Given the description of an element on the screen output the (x, y) to click on. 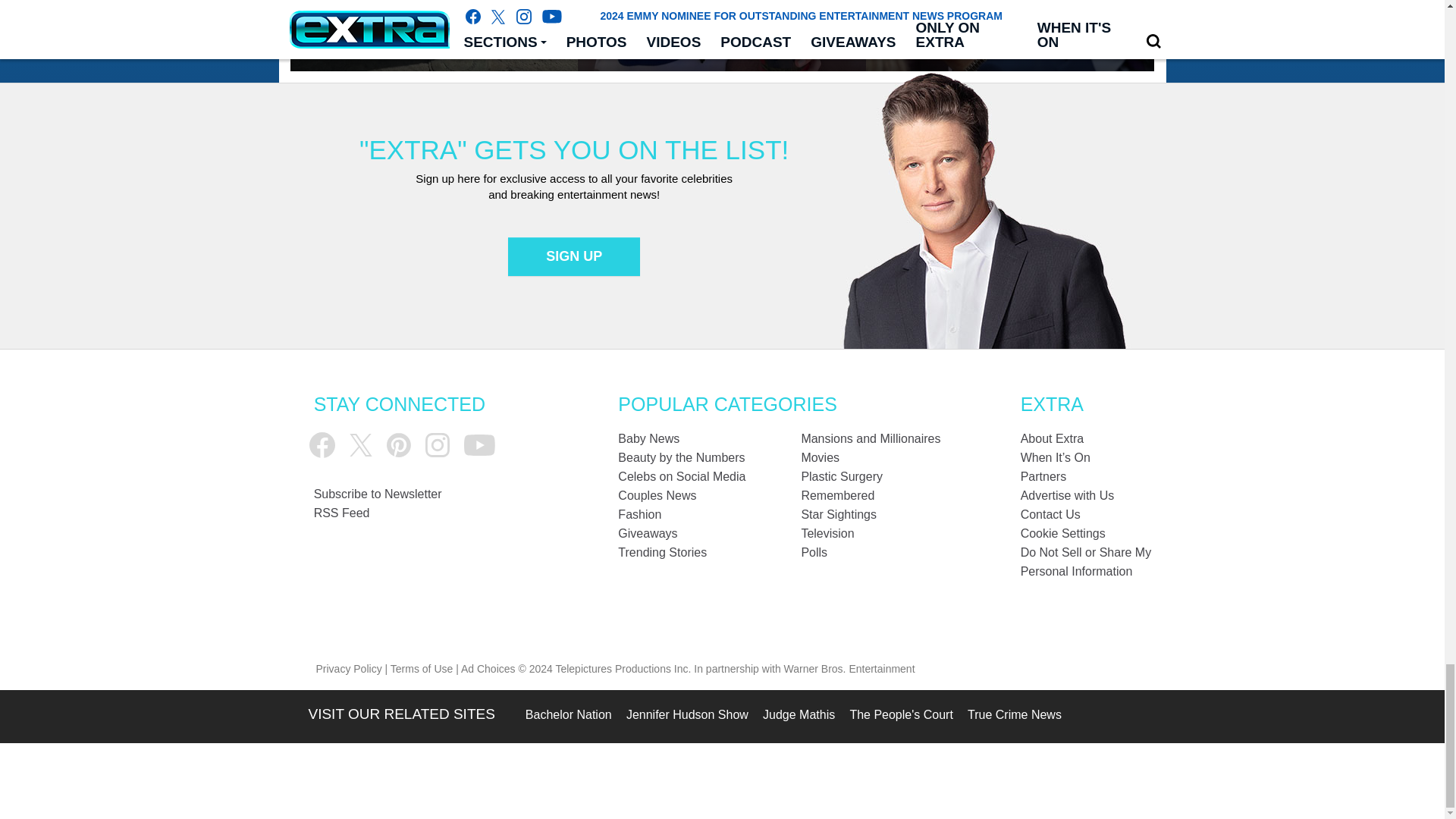
YouTube (479, 445)
Facebook (321, 444)
Instagram (437, 445)
Twitter (360, 445)
Pinterest (398, 445)
